Given the description of an element on the screen output the (x, y) to click on. 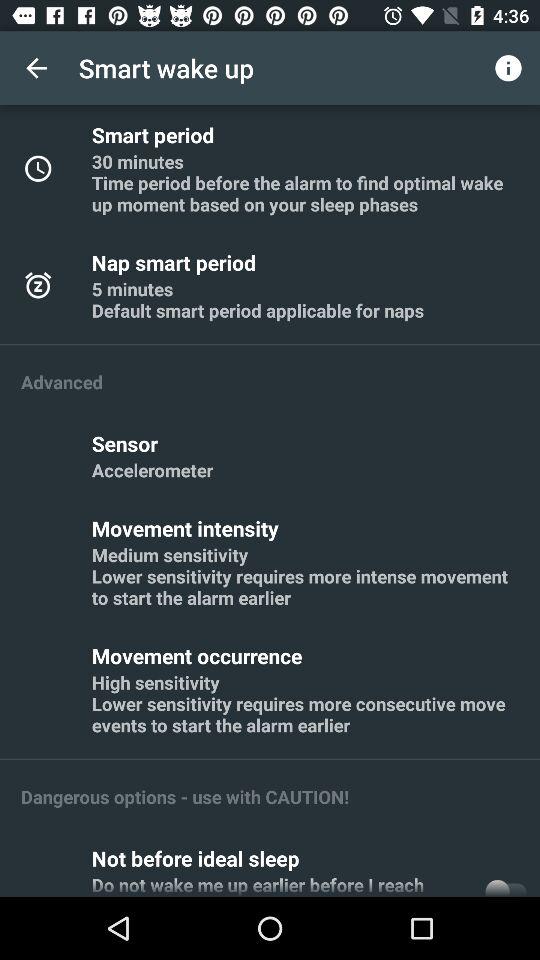
press the icon next to smart wake up app (36, 68)
